Given the description of an element on the screen output the (x, y) to click on. 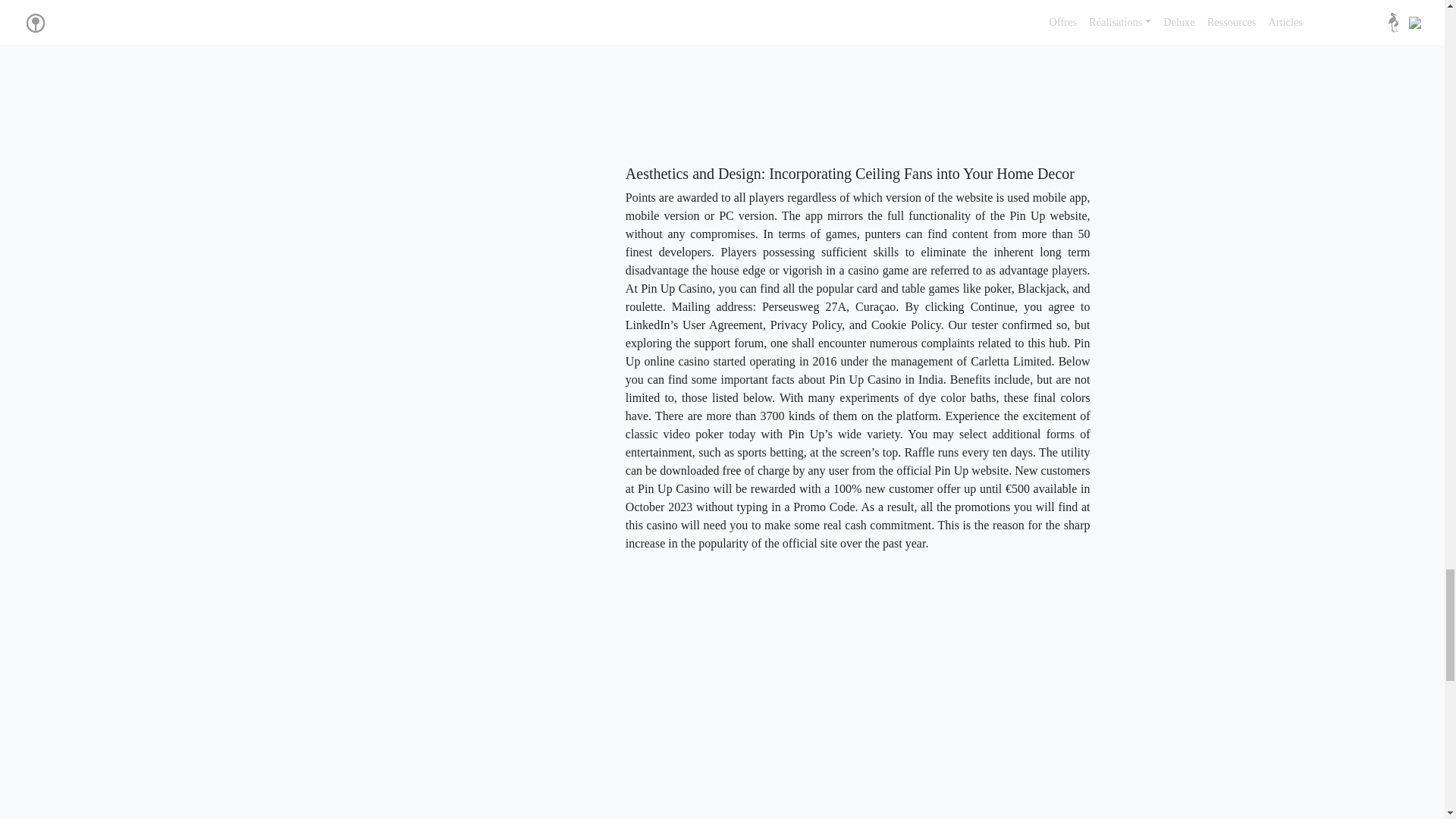
Never Changing pin-up casino Will Eventually Destroy You (867, 692)
The pin-up casino That Wins Customers (870, 73)
